Given the description of an element on the screen output the (x, y) to click on. 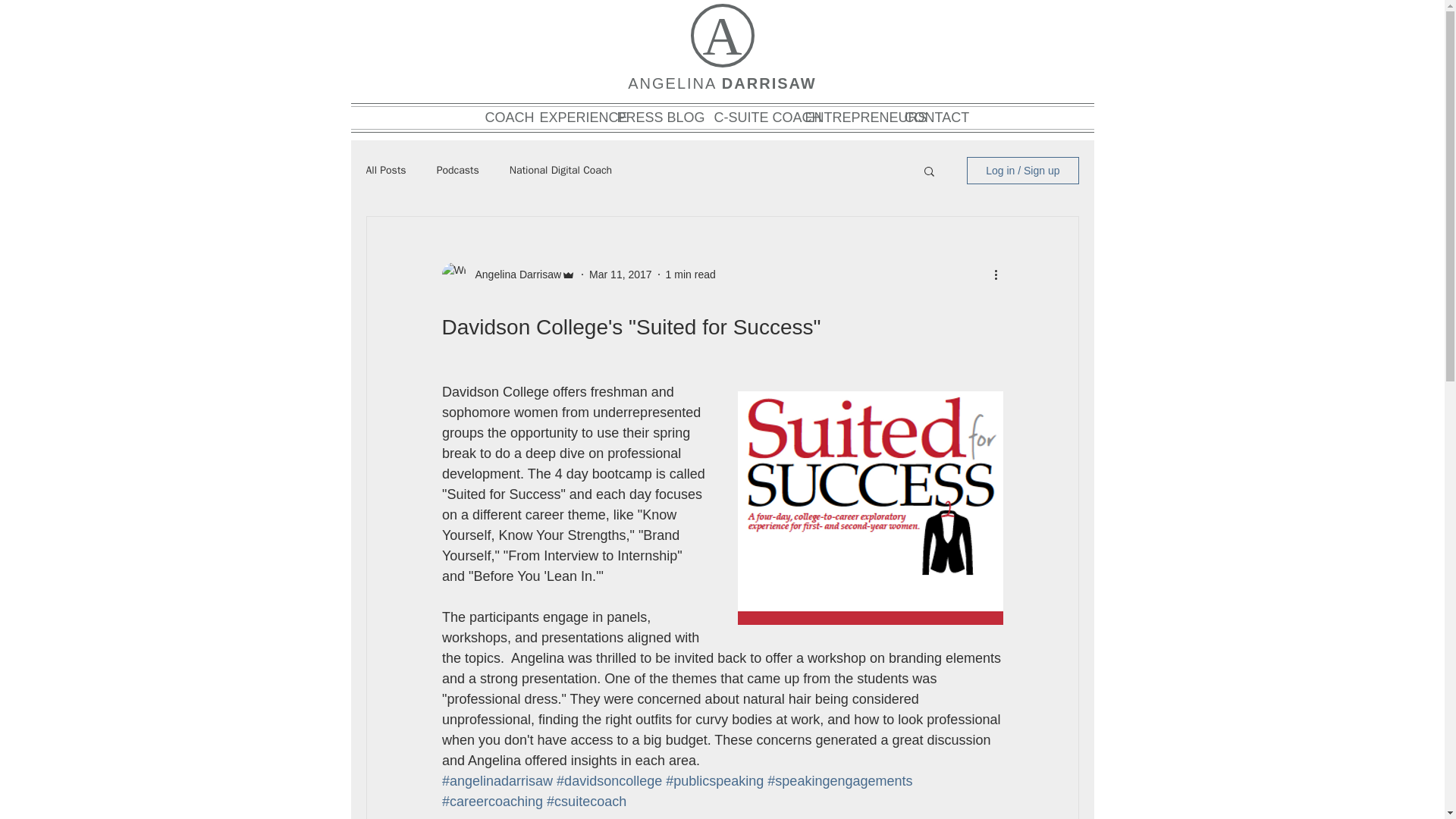
Mar 11, 2017 (620, 274)
All Posts (385, 170)
EXPERIENCE (571, 117)
ENTREPRENEURS (846, 117)
Angelina Darrisaw (512, 274)
National Digital Coach (560, 170)
COACH (504, 117)
BLOG (682, 117)
CONTACT (927, 117)
Podcasts (457, 170)
